Given the description of an element on the screen output the (x, y) to click on. 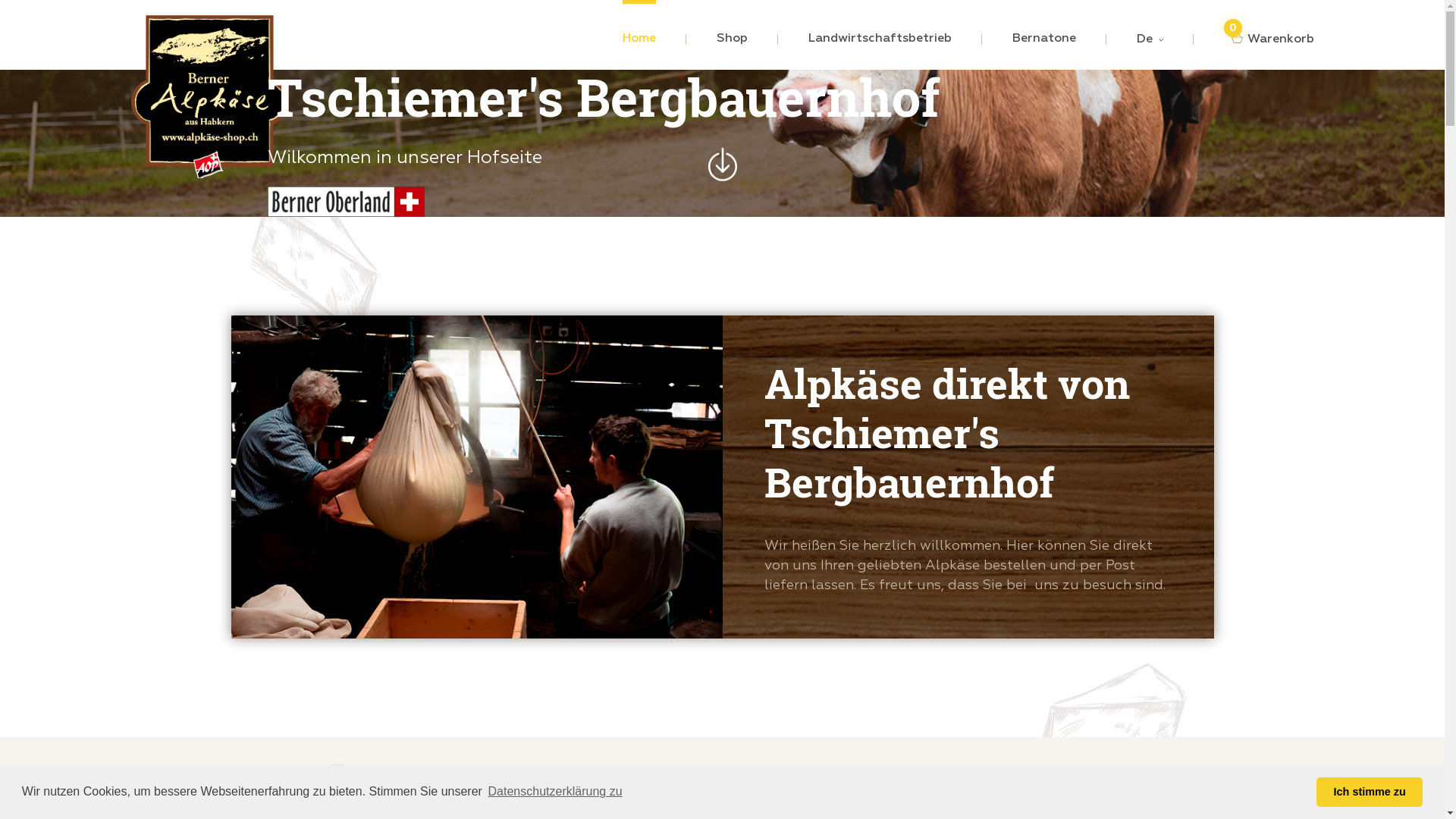
Home Element type: text (638, 38)
0
Warenkorb Element type: text (1268, 39)
Ich stimme zu Element type: text (1369, 791)
Bernatone Element type: text (1043, 38)
Landwirtschaftsbetrieb Element type: text (880, 38)
Shop Element type: text (731, 38)
